Given the description of an element on the screen output the (x, y) to click on. 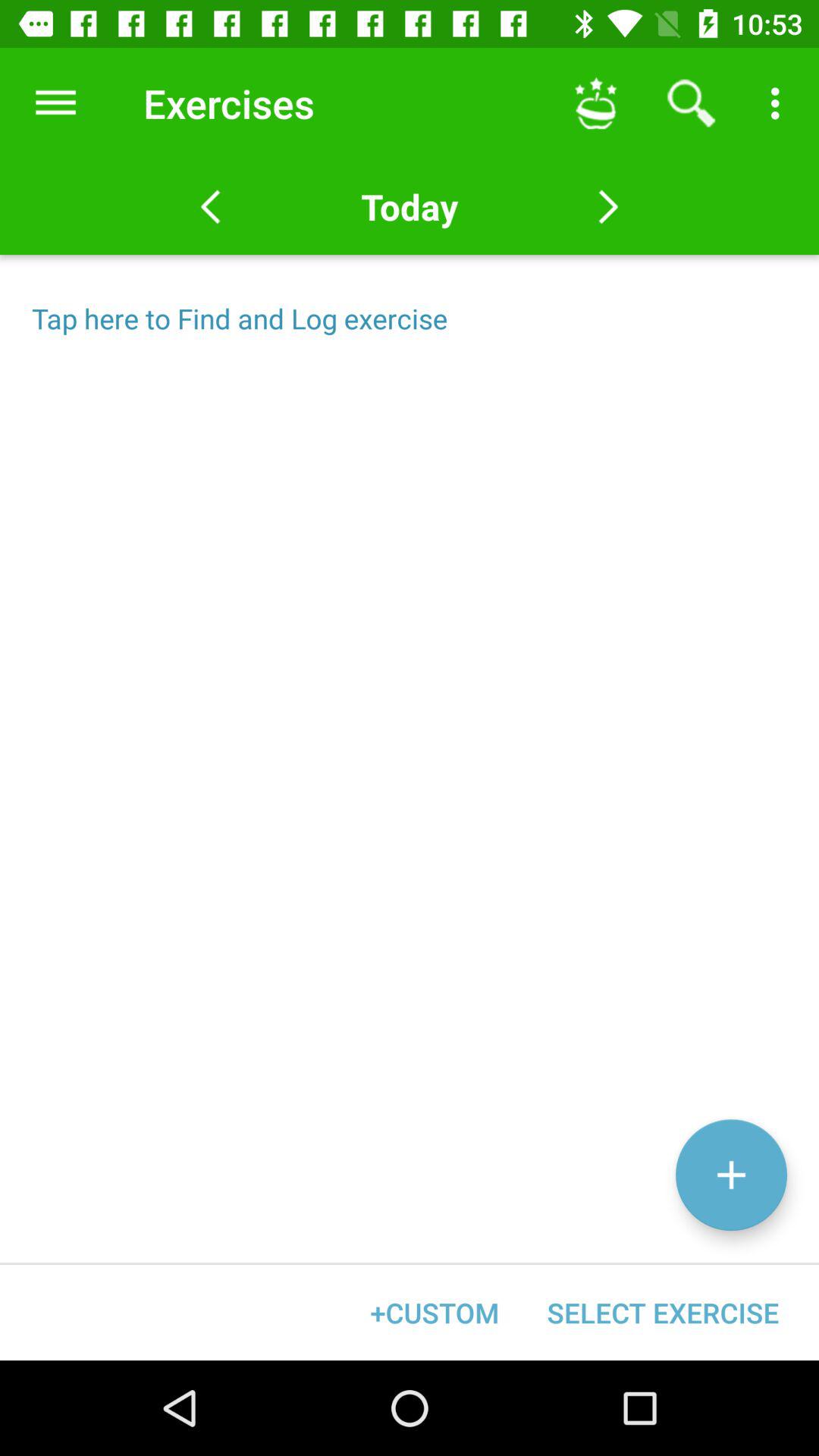
choose icon next to exercises (595, 103)
